Given the description of an element on the screen output the (x, y) to click on. 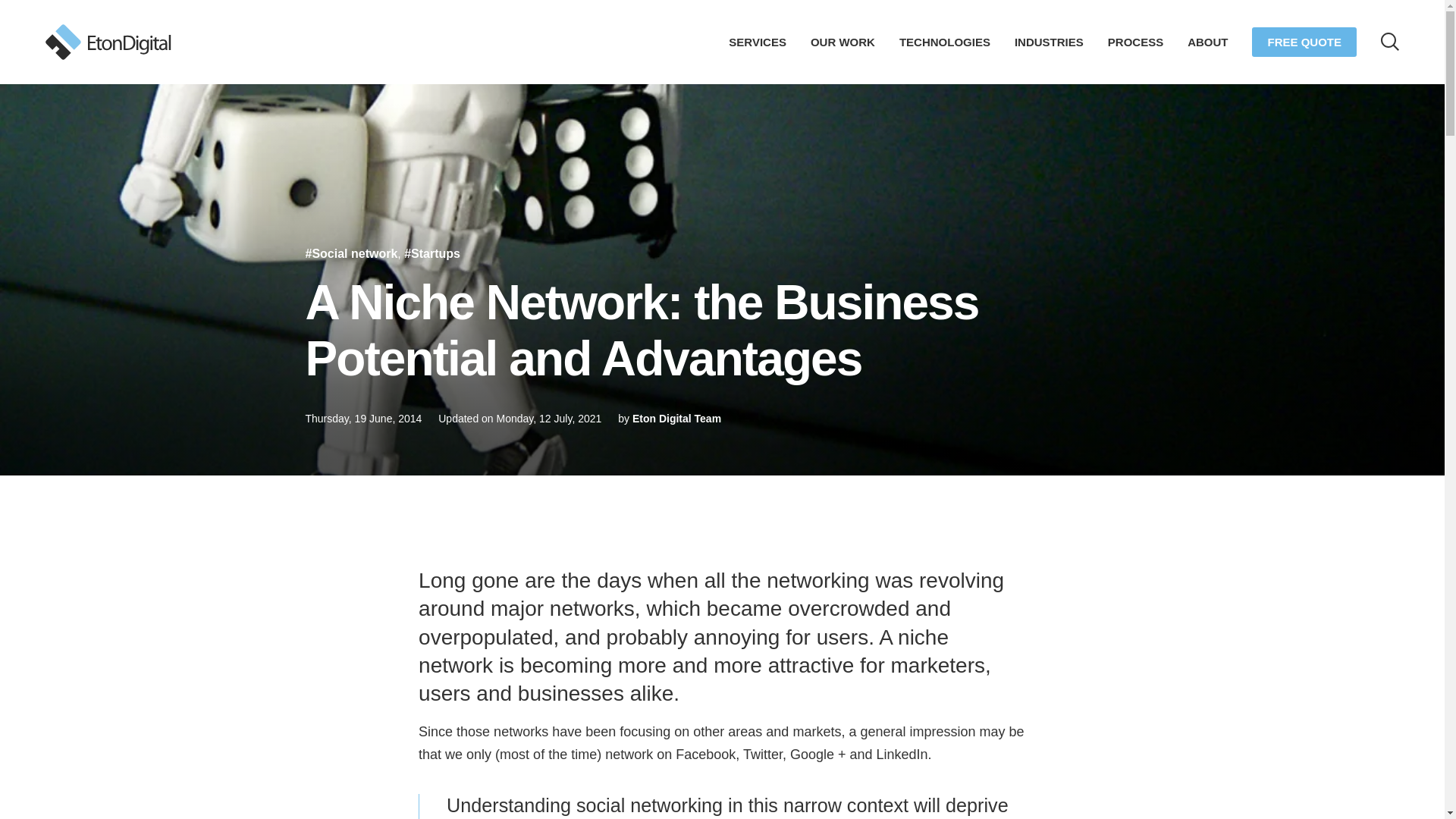
TECHNOLOGIES (944, 41)
INDUSTRIES (1048, 41)
SERVICES (757, 41)
OUR WORK (842, 41)
